Given the description of an element on the screen output the (x, y) to click on. 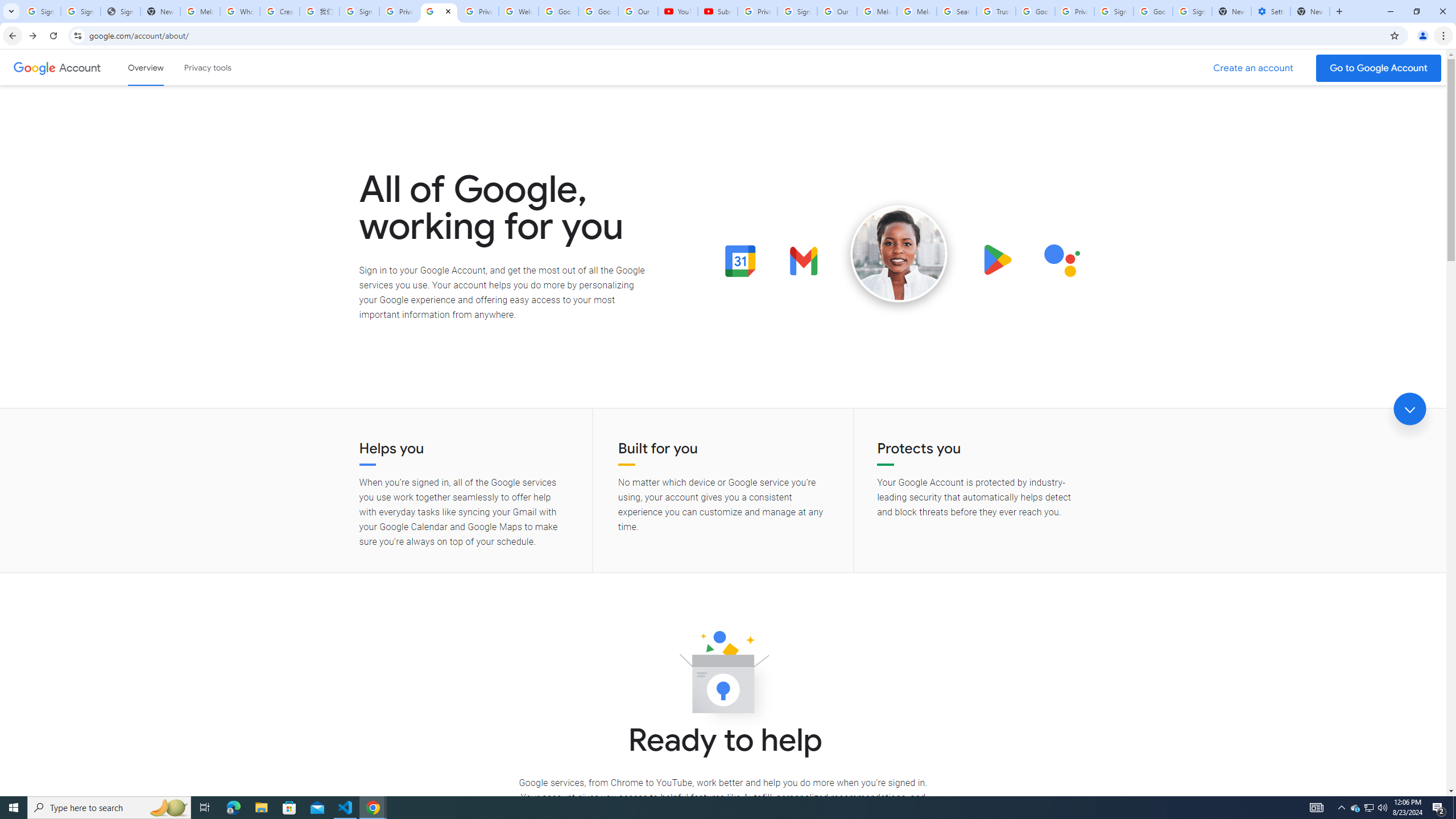
Go to your Google Account (1378, 67)
Sign in - Google Accounts (1192, 11)
Settings - Addresses and more (1270, 11)
Who is my administrator? - Google Account Help (239, 11)
